Given the description of an element on the screen output the (x, y) to click on. 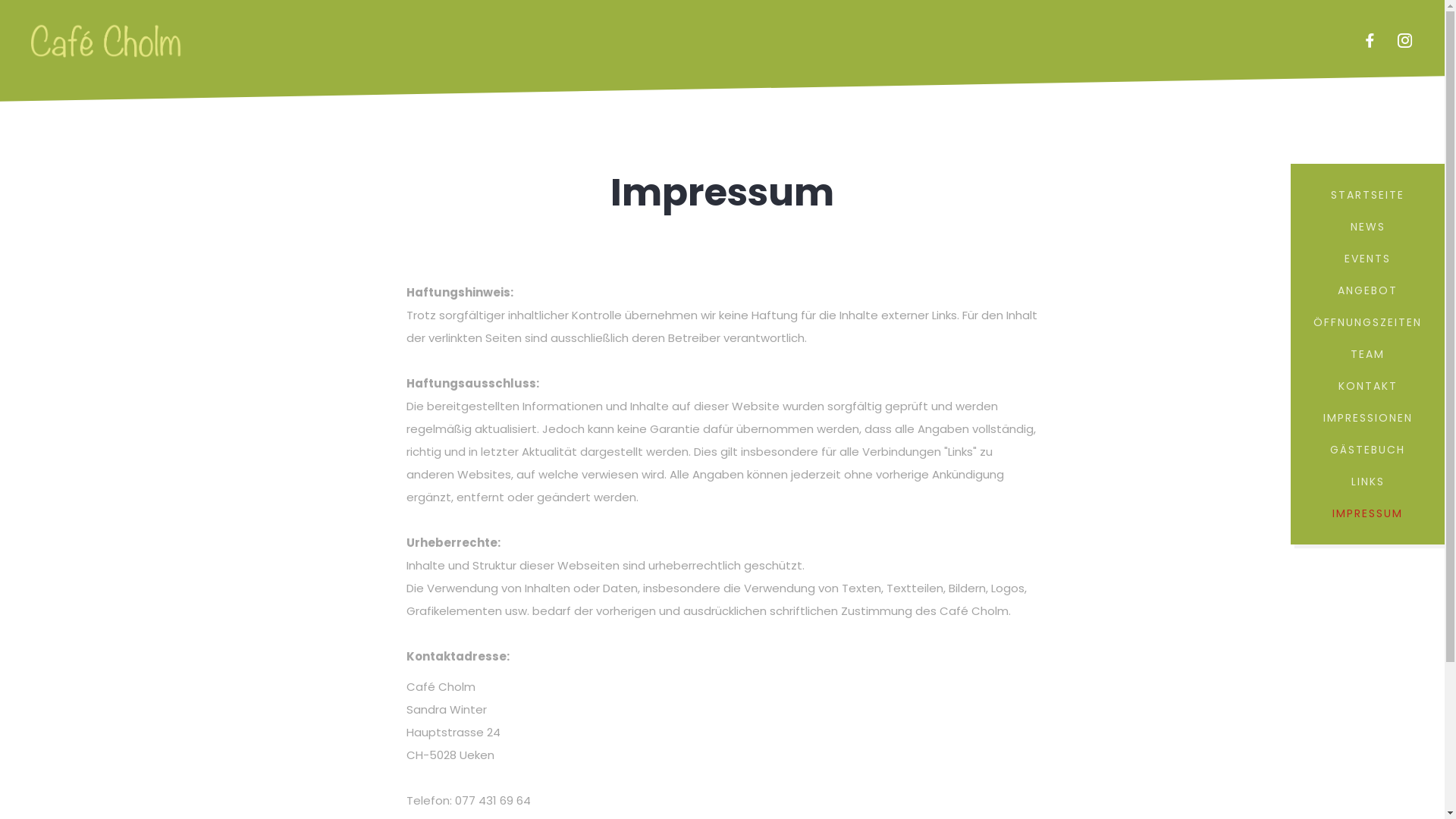
NEWS Element type: text (1367, 226)
LINKS Element type: text (1367, 481)
TEAM Element type: text (1367, 354)
IMPRESSIONEN Element type: text (1367, 417)
KONTAKT Element type: text (1367, 385)
STARTSEITE Element type: text (1367, 194)
EVENTS Element type: text (1367, 258)
IMPRESSUM Element type: text (1367, 513)
ANGEBOT Element type: text (1367, 290)
